Given the description of an element on the screen output the (x, y) to click on. 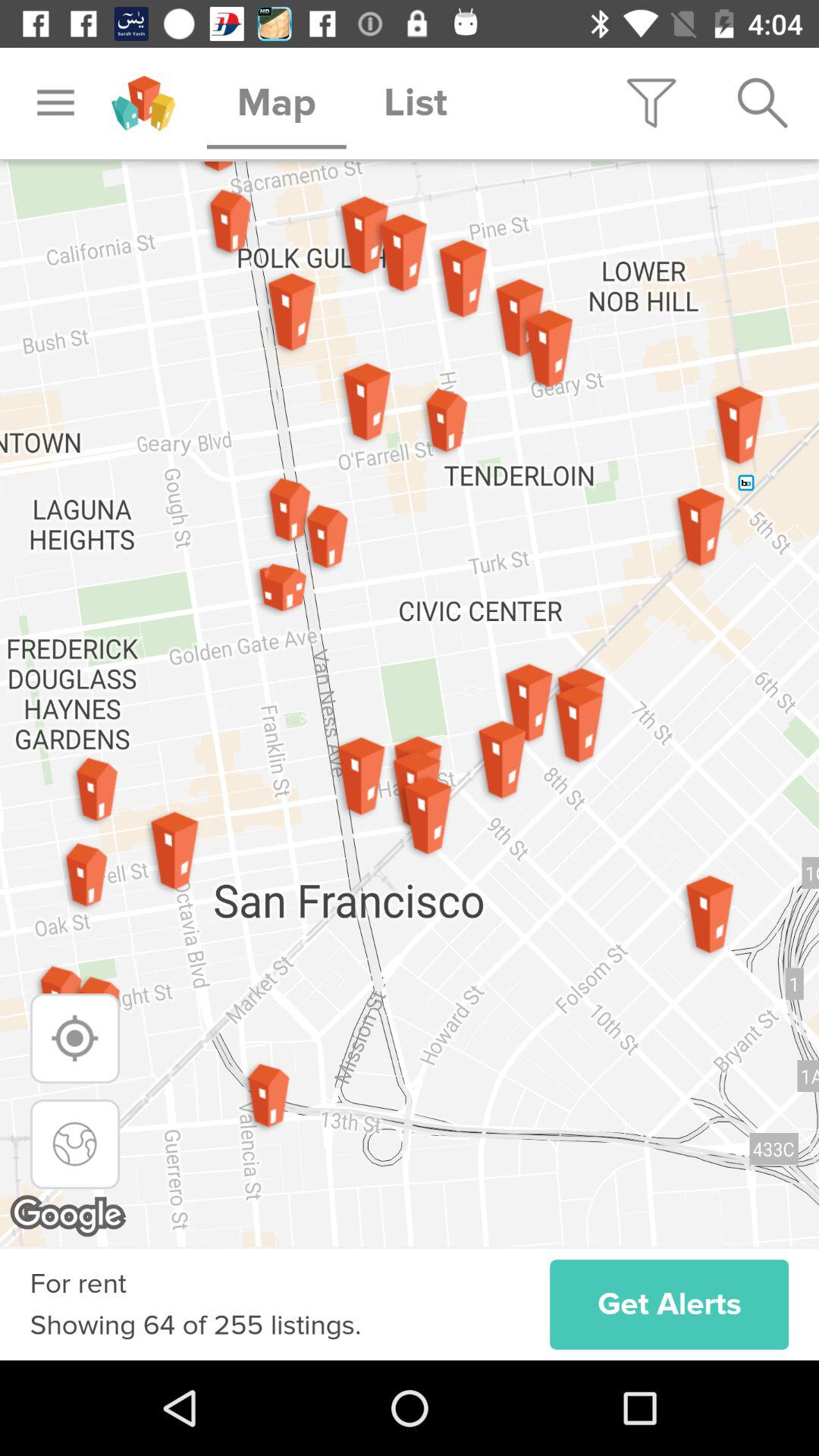
turn off item next to showing 64 of icon (668, 1304)
